Given the description of an element on the screen output the (x, y) to click on. 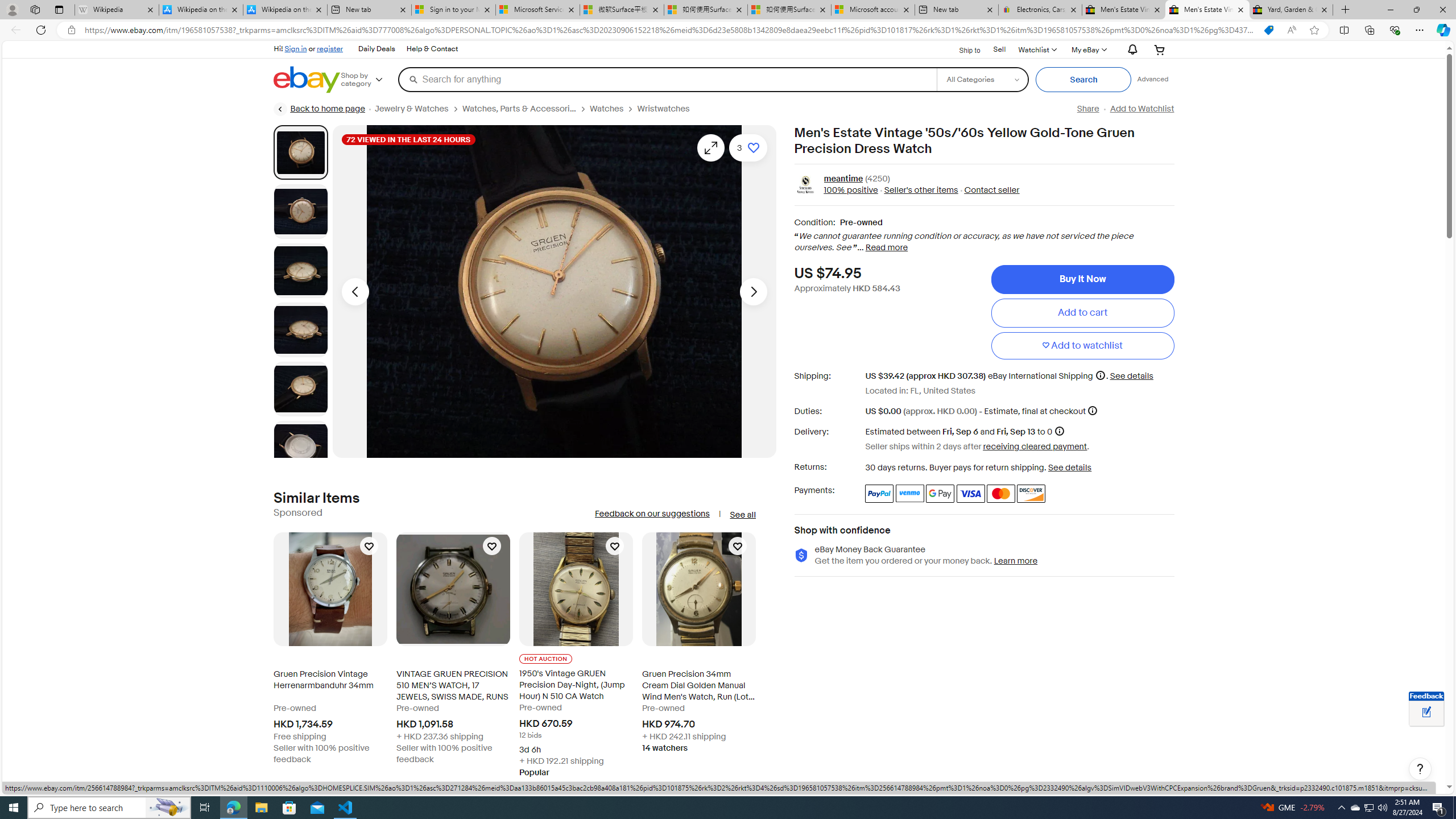
Seller's other items (920, 190)
receiving cleared payment (1034, 446)
Help, opens dialogs (1420, 768)
Picture 6 of 8 (300, 447)
Leave feedback about your eBay ViewItem experience (1426, 713)
Watchlist (1036, 49)
See all (742, 514)
Add to watchlist (1082, 345)
Picture 1 of 8 (300, 152)
Your shopping cart (1159, 49)
Watches, Parts & Accessories (518, 108)
Picture 4 of 8 (300, 329)
